Given the description of an element on the screen output the (x, y) to click on. 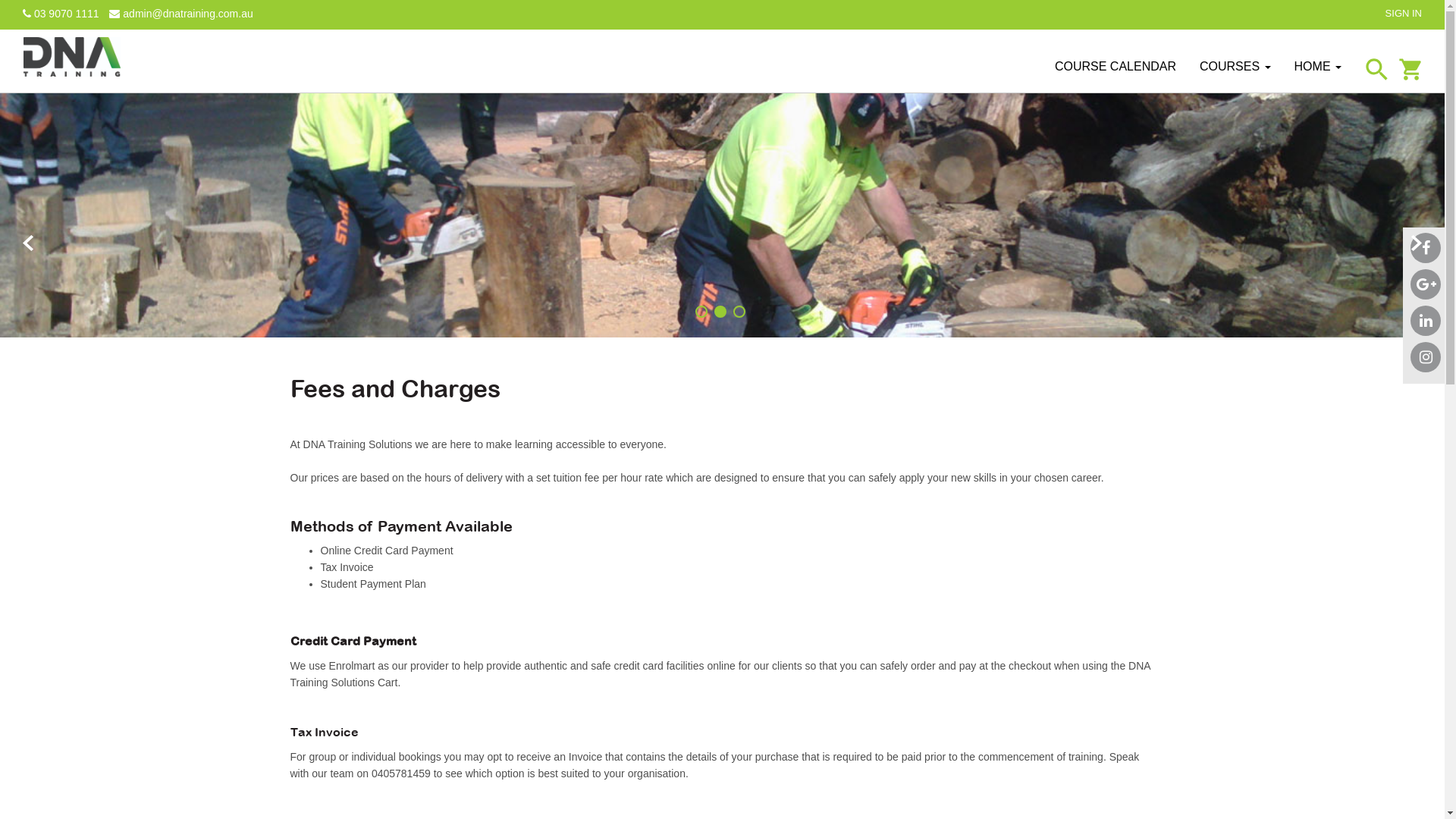
DNA Training Solutions Element type: hover (71, 56)
HOME Element type: text (1317, 65)
03 9070 1111 Element type: text (60, 13)
COURSES Element type: text (1235, 65)
SIGN IN Element type: text (1403, 13)
COURSE CALENDAR Element type: text (1115, 65)
admin@dnatraining.com.au Element type: text (180, 13)
